Given the description of an element on the screen output the (x, y) to click on. 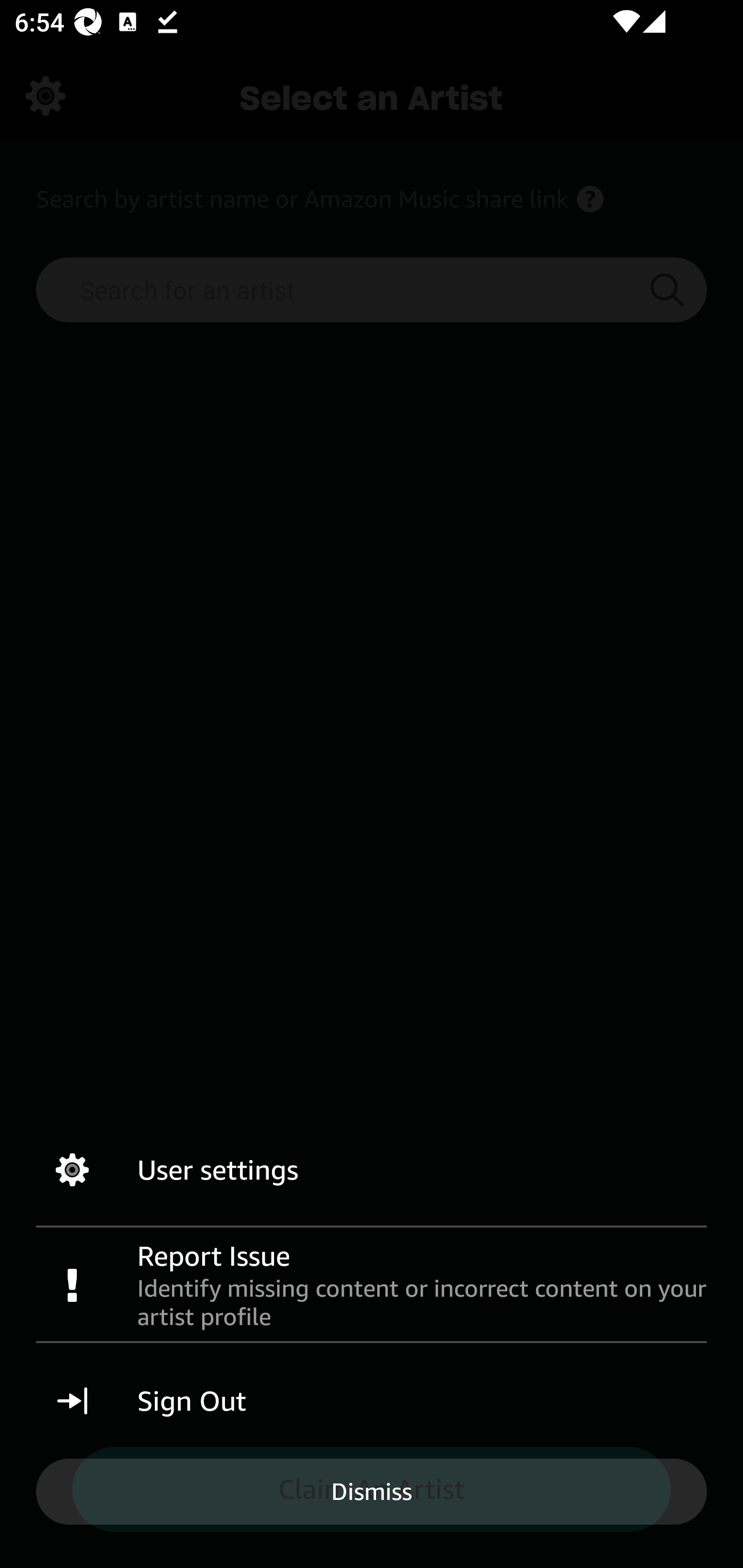
User settings  icon User settings User settings (371, 1169)
Sign Out  icon Sign Out Sign Out (371, 1400)
Dismiss button Dismiss (371, 1491)
